Given the description of an element on the screen output the (x, y) to click on. 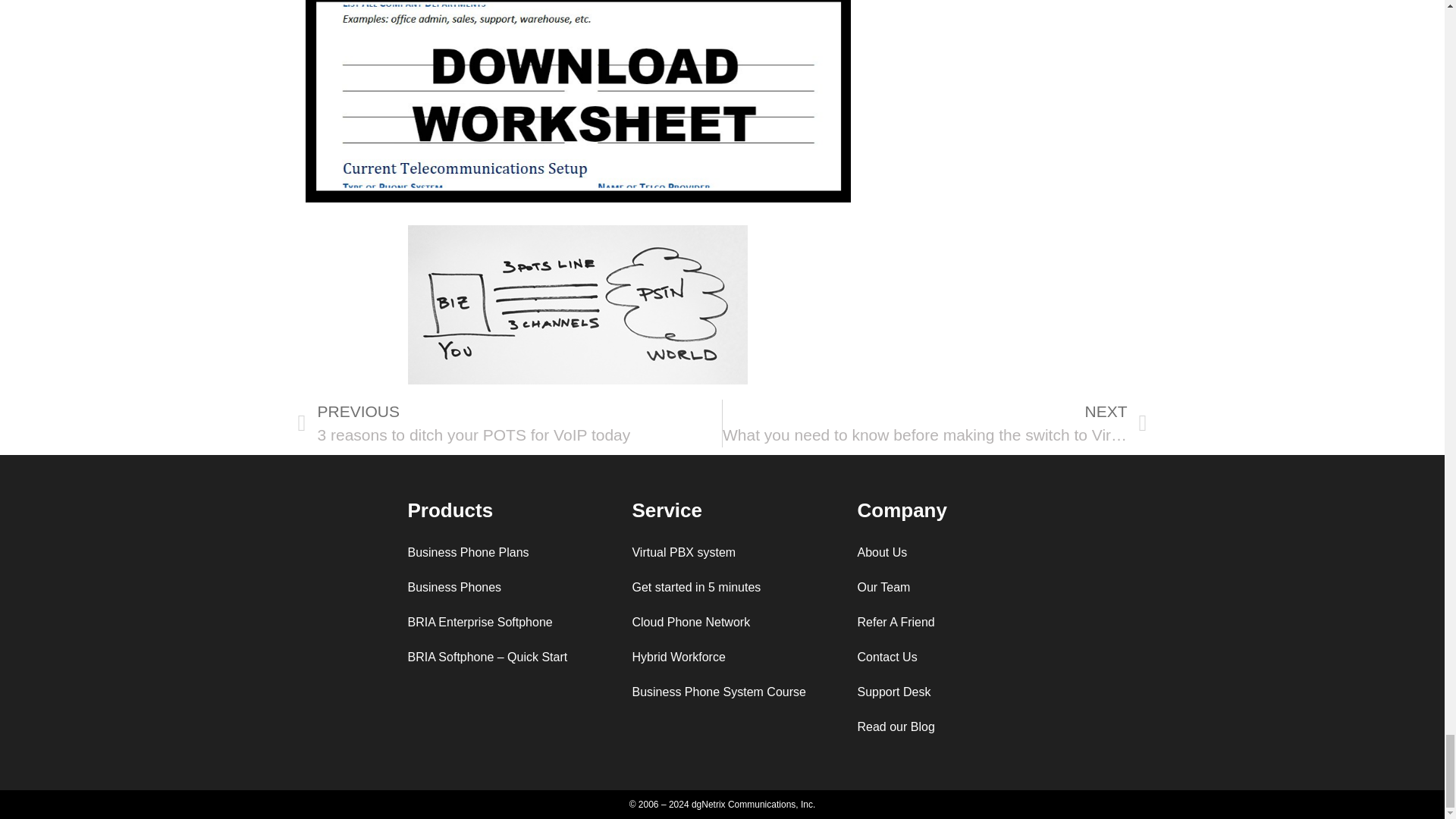
Cloud Phone Network (721, 622)
Business Phones (496, 587)
About Us (946, 552)
Virtual PBX system (721, 552)
Hybrid Workforce (721, 656)
Click Here (577, 101)
Business Phone System Course (721, 692)
Bring your own device (721, 656)
BRIA Enterprise Softphone (496, 622)
